Given the description of an element on the screen output the (x, y) to click on. 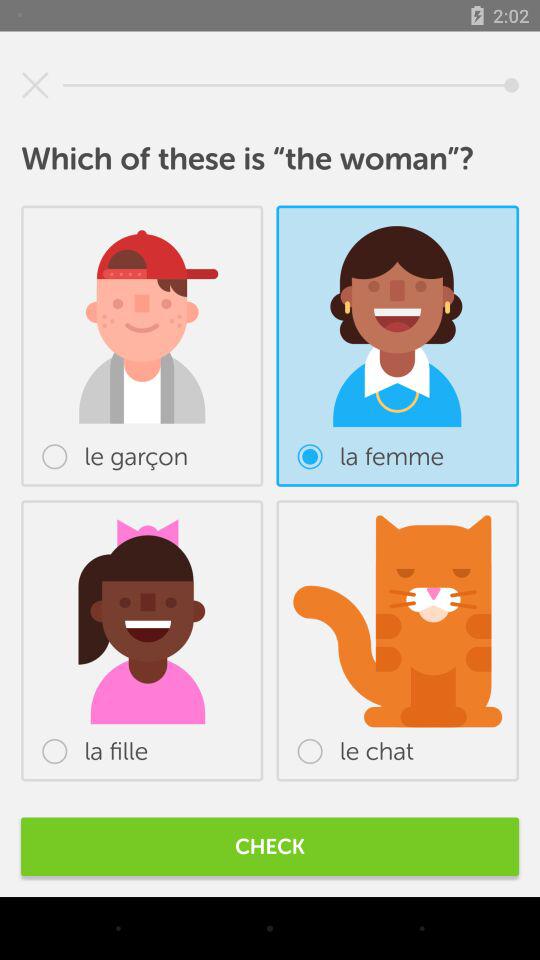
click icon above the which of these item (35, 85)
